Given the description of an element on the screen output the (x, y) to click on. 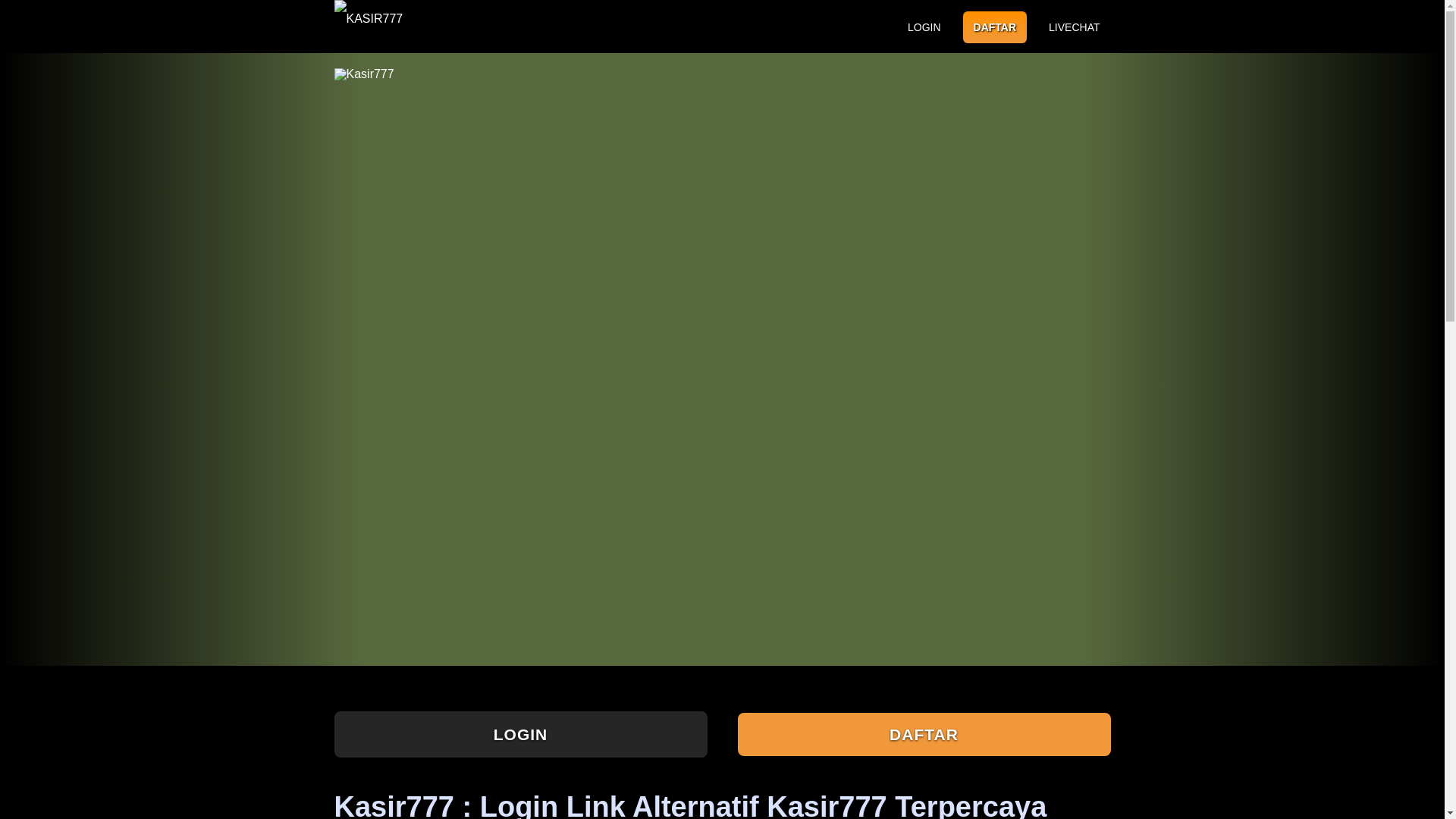
LOGIN (924, 27)
DAFTAR (994, 27)
DAFTAR (922, 733)
LIVECHAT (1073, 27)
LOGIN (519, 734)
